Given the description of an element on the screen output the (x, y) to click on. 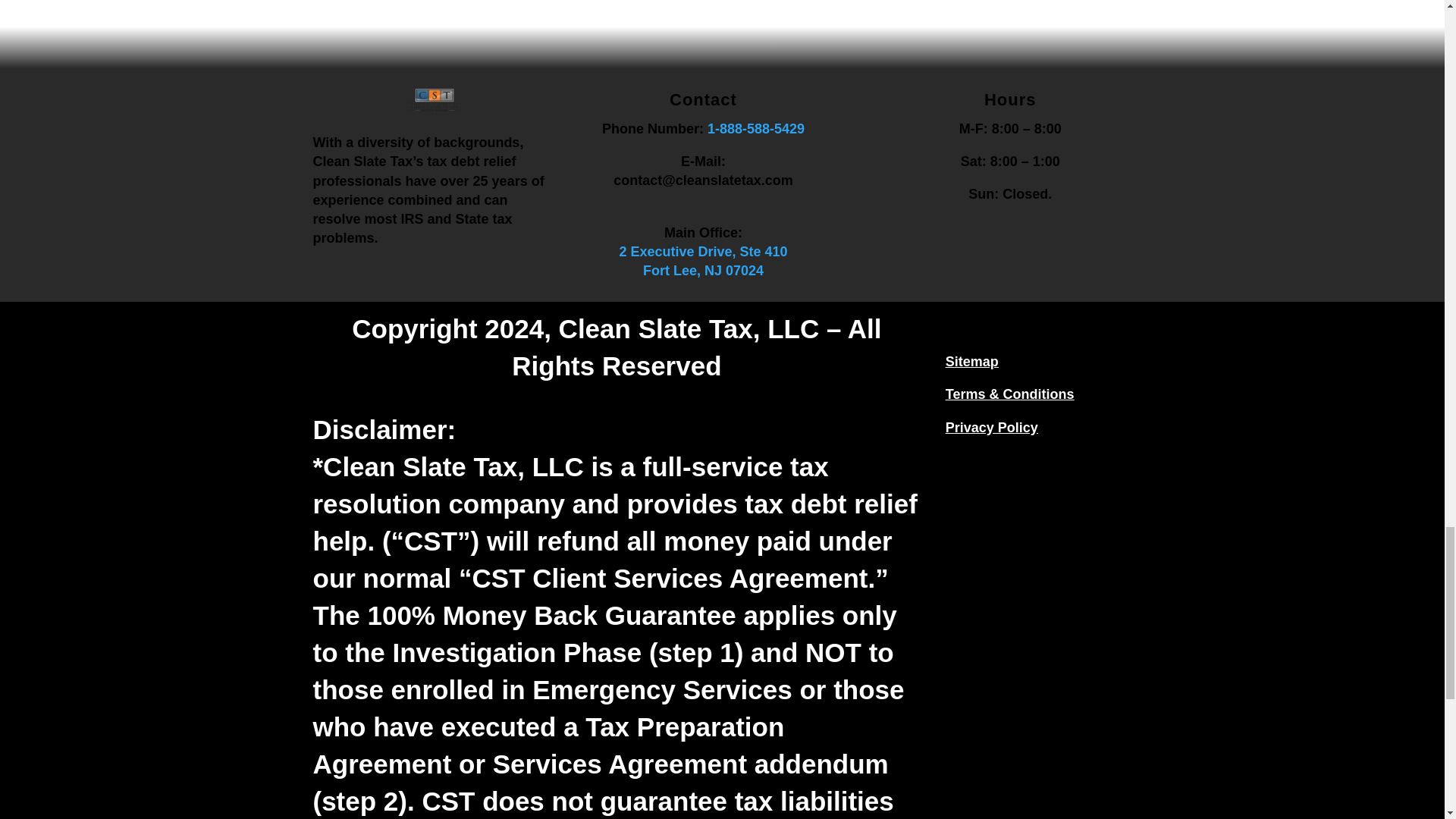
Terms and Conditions for CleanSlateTax.com (1009, 394)
Sitemap (971, 361)
Privacy Policy for CleanSlateTax.com (991, 427)
logo-final (434, 106)
